Given the description of an element on the screen output the (x, y) to click on. 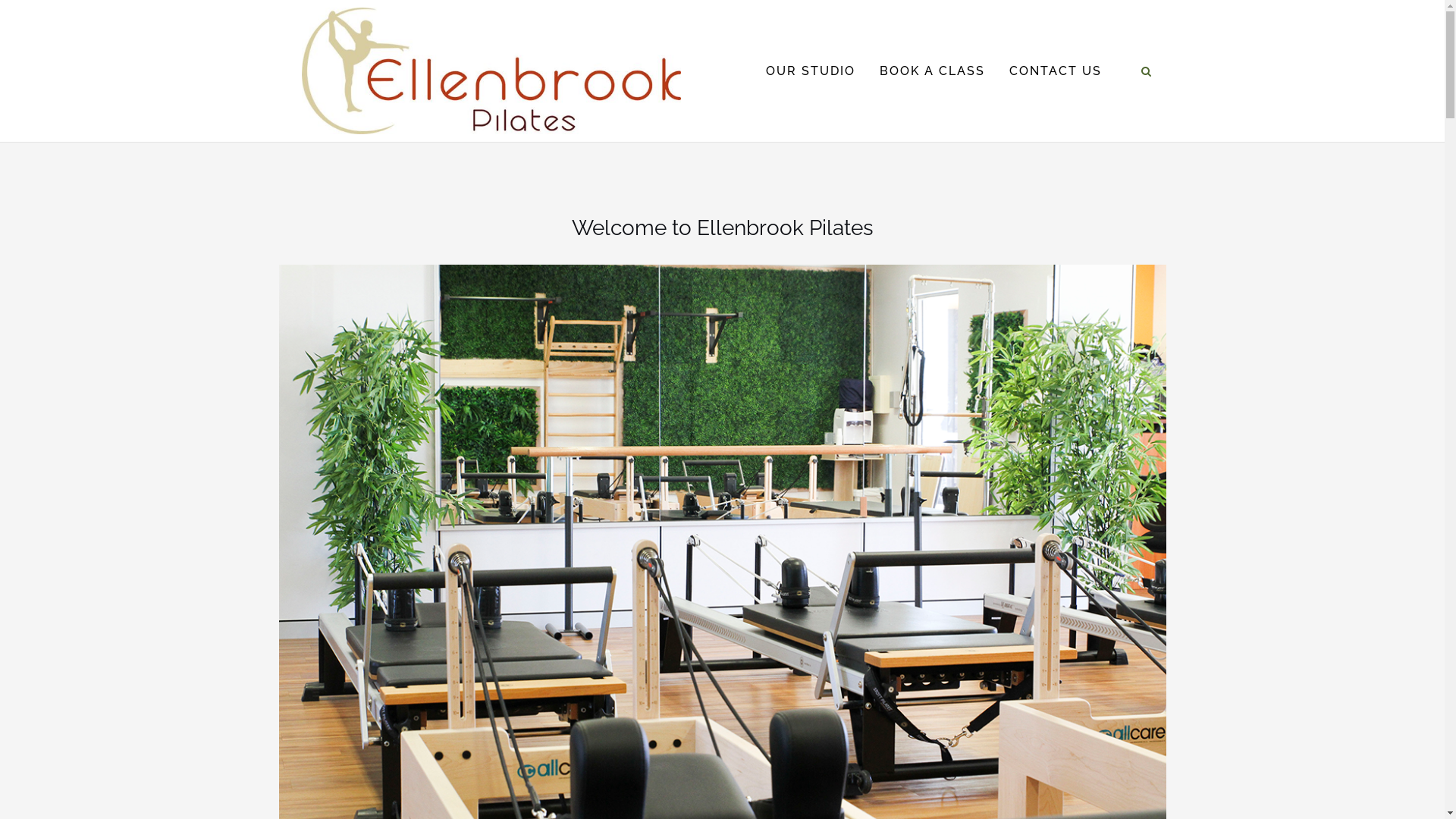
OUR STUDIO Element type: text (810, 71)
BOOK A CLASS Element type: text (932, 71)
CONTACT US Element type: text (1054, 71)
